Given the description of an element on the screen output the (x, y) to click on. 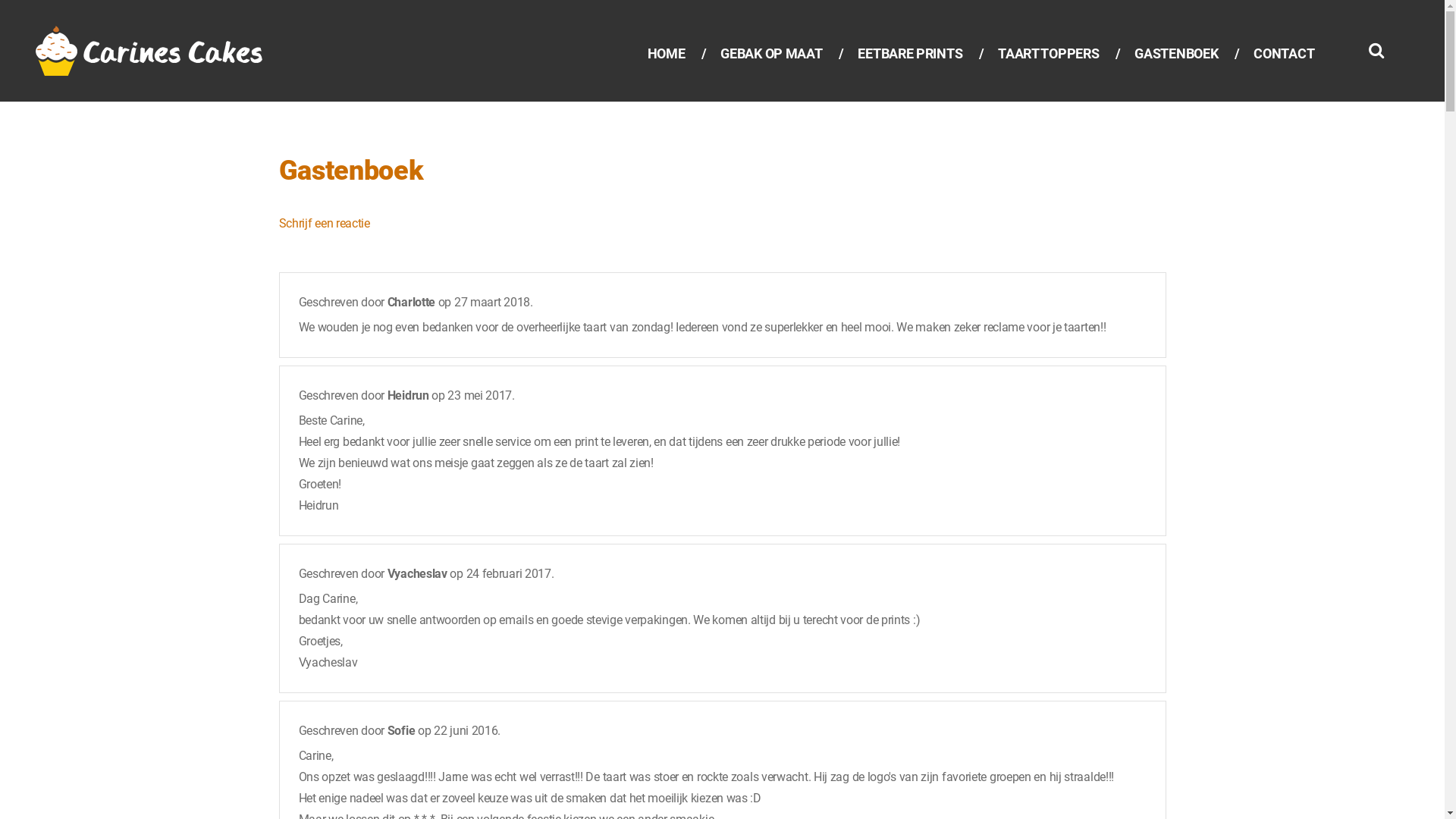
Skip to navigation Element type: text (46, 0)
HOME Element type: text (666, 53)
TAART TOPPERS Element type: text (1047, 53)
24 februari 2017 Element type: text (508, 573)
Home Element type: hover (152, 35)
GASTENBOEK Element type: text (1175, 53)
22 juni 2016 Element type: text (465, 730)
23 mei 2017 Element type: text (479, 395)
Overslaan en naar de inhoud gaan Element type: text (87, 0)
CONTACT Element type: text (1283, 53)
27 maart 2018 Element type: text (492, 301)
Schrijf een reactie Element type: text (324, 223)
